Given the description of an element on the screen output the (x, y) to click on. 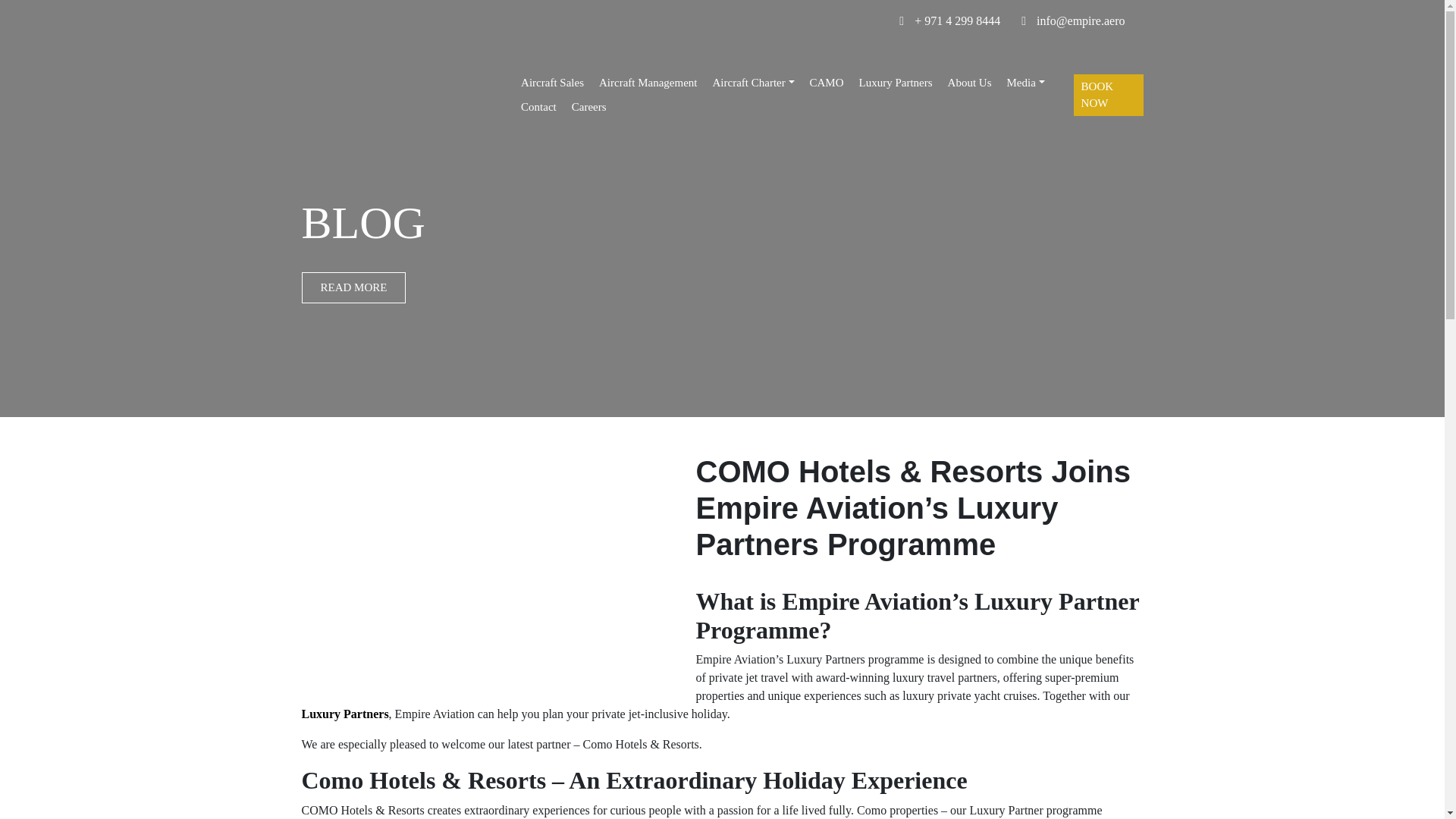
Aircraft Management (648, 8)
Media (1025, 50)
Aircraft Sales (552, 4)
READ MORE (152, 287)
CAMO (826, 40)
Aircraft Charter (753, 10)
BOOK NOW (1108, 76)
Luxury Partners (344, 713)
Contact (538, 85)
Luxury Partners (896, 43)
